Given the description of an element on the screen output the (x, y) to click on. 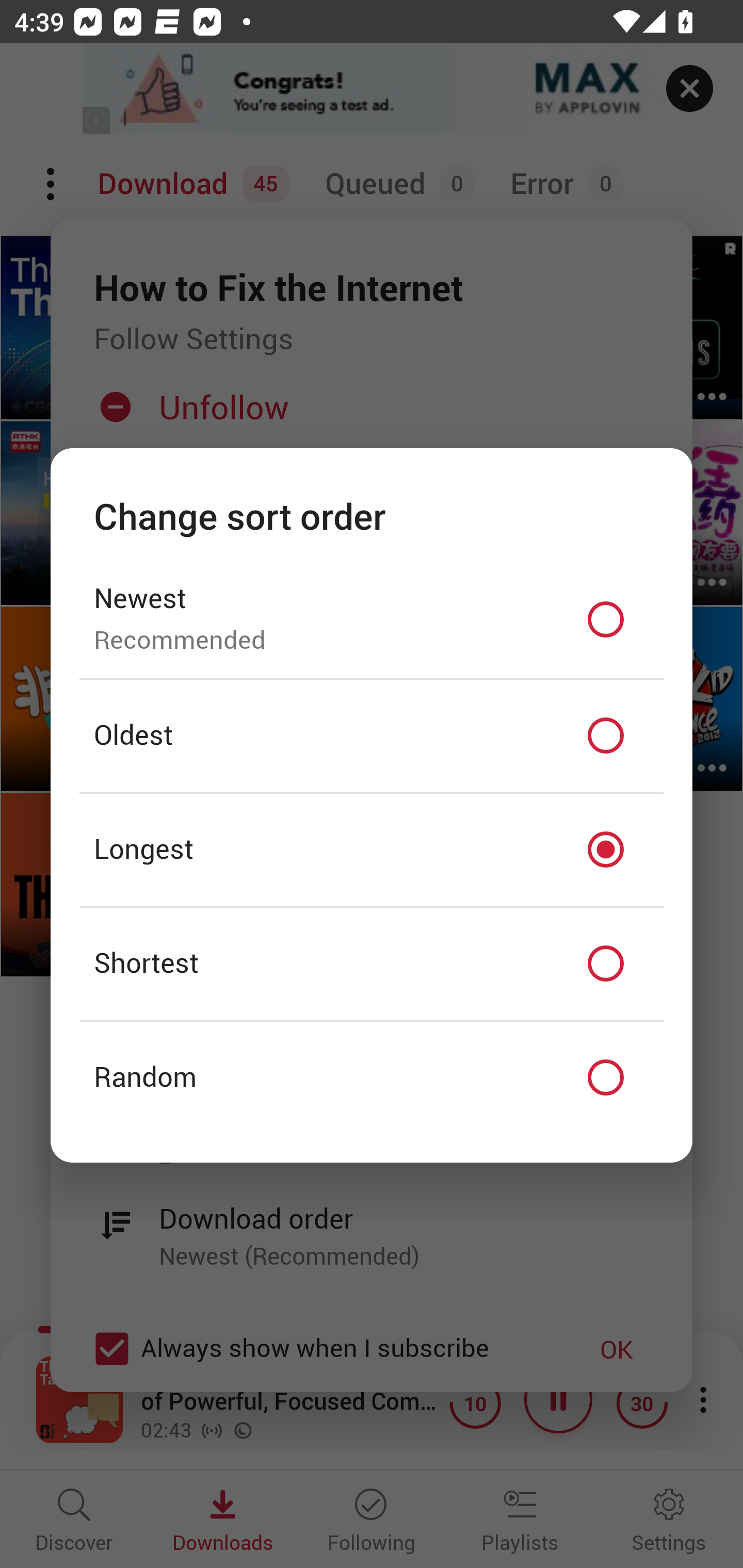
Newest Recommended (371, 619)
Oldest (371, 735)
Longest (371, 849)
Shortest (371, 963)
Random (371, 1077)
